Given the description of an element on the screen output the (x, y) to click on. 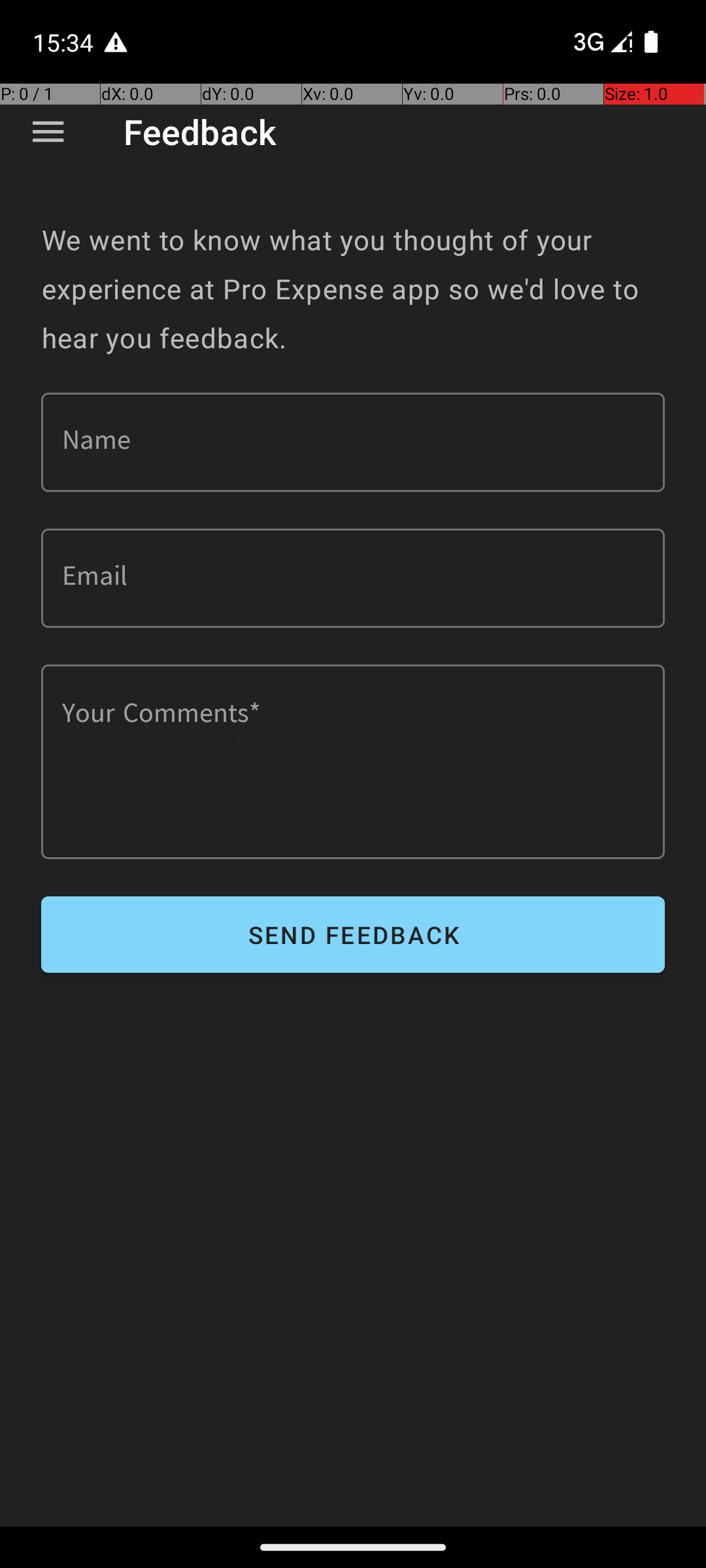
Feedback Element type: android.widget.TextView (200, 131)
We went to know what you thought of your experience at Pro Expense app so we'd love to hear you feedback. Element type: android.widget.TextView (352, 288)
Email Element type: android.widget.EditText (352, 577)
Your Comments* Element type: android.widget.EditText (352, 761)
SEND FEEDBACK Element type: android.widget.Button (352, 934)
